Given the description of an element on the screen output the (x, y) to click on. 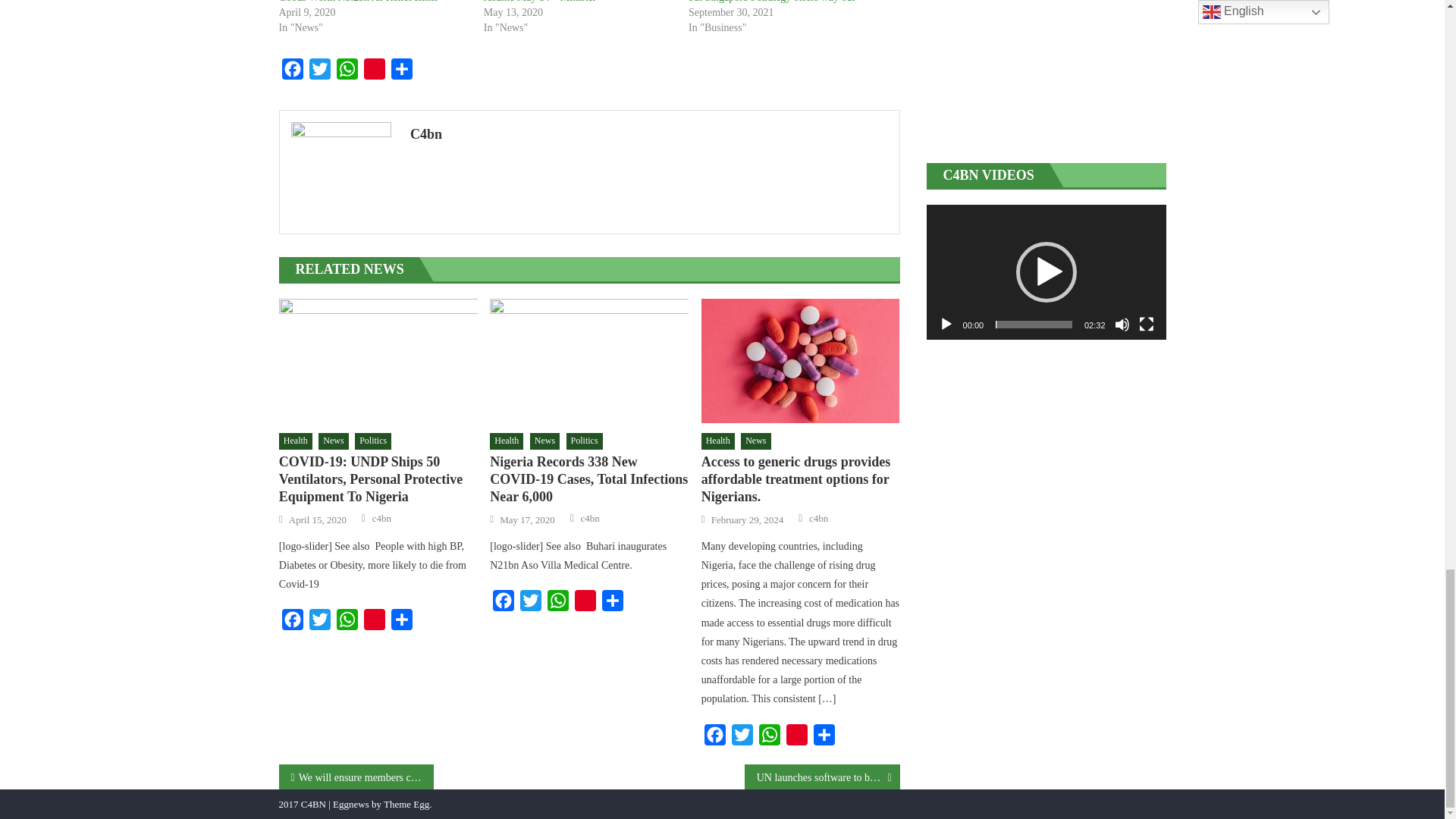
WhatsApp (347, 623)
Facebook (292, 72)
WhatsApp (347, 72)
Twitter (319, 72)
Pinterest (374, 623)
Pinterest (374, 72)
Pinterest (374, 72)
Facebook (292, 72)
Share (401, 72)
Facebook (502, 603)
Facebook (292, 623)
